Given the description of an element on the screen output the (x, y) to click on. 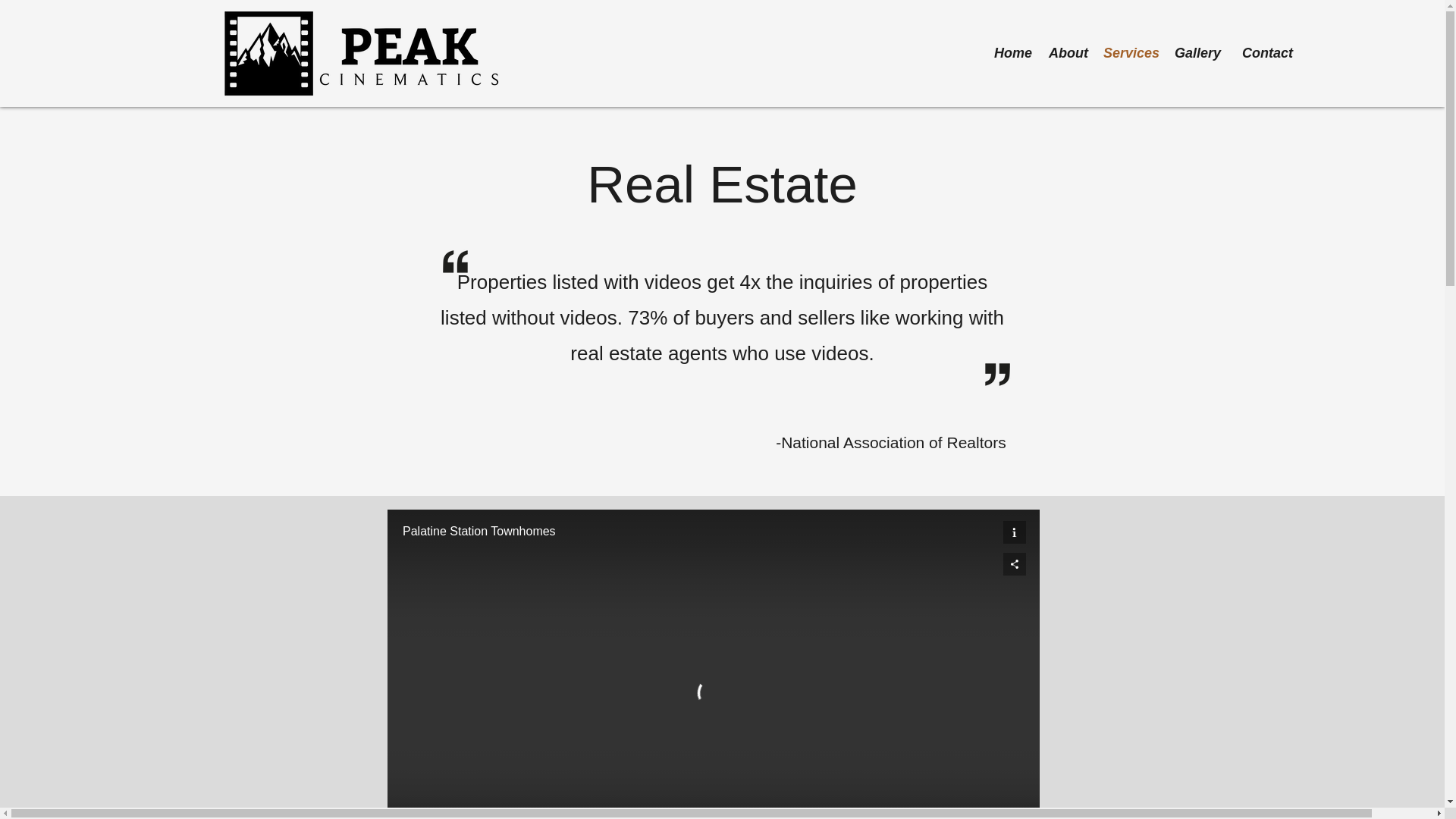
Services (1131, 53)
About (1067, 53)
Home (1011, 53)
Contact (1264, 53)
Gallery (1197, 53)
